Given the description of an element on the screen output the (x, y) to click on. 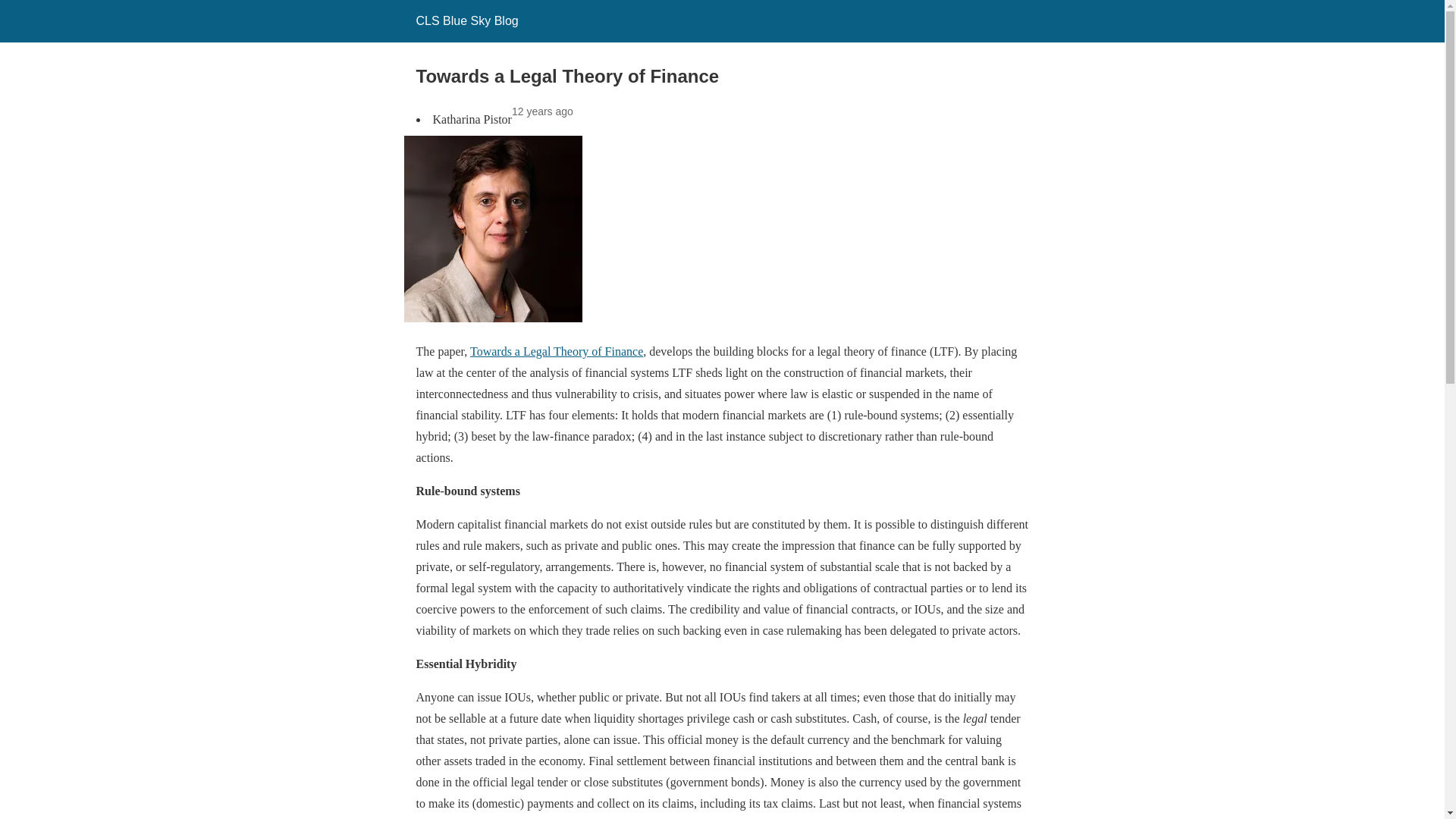
Towards a Legal Theory of Finance (556, 350)
CLS Blue Sky Blog (466, 20)
